Given the description of an element on the screen output the (x, y) to click on. 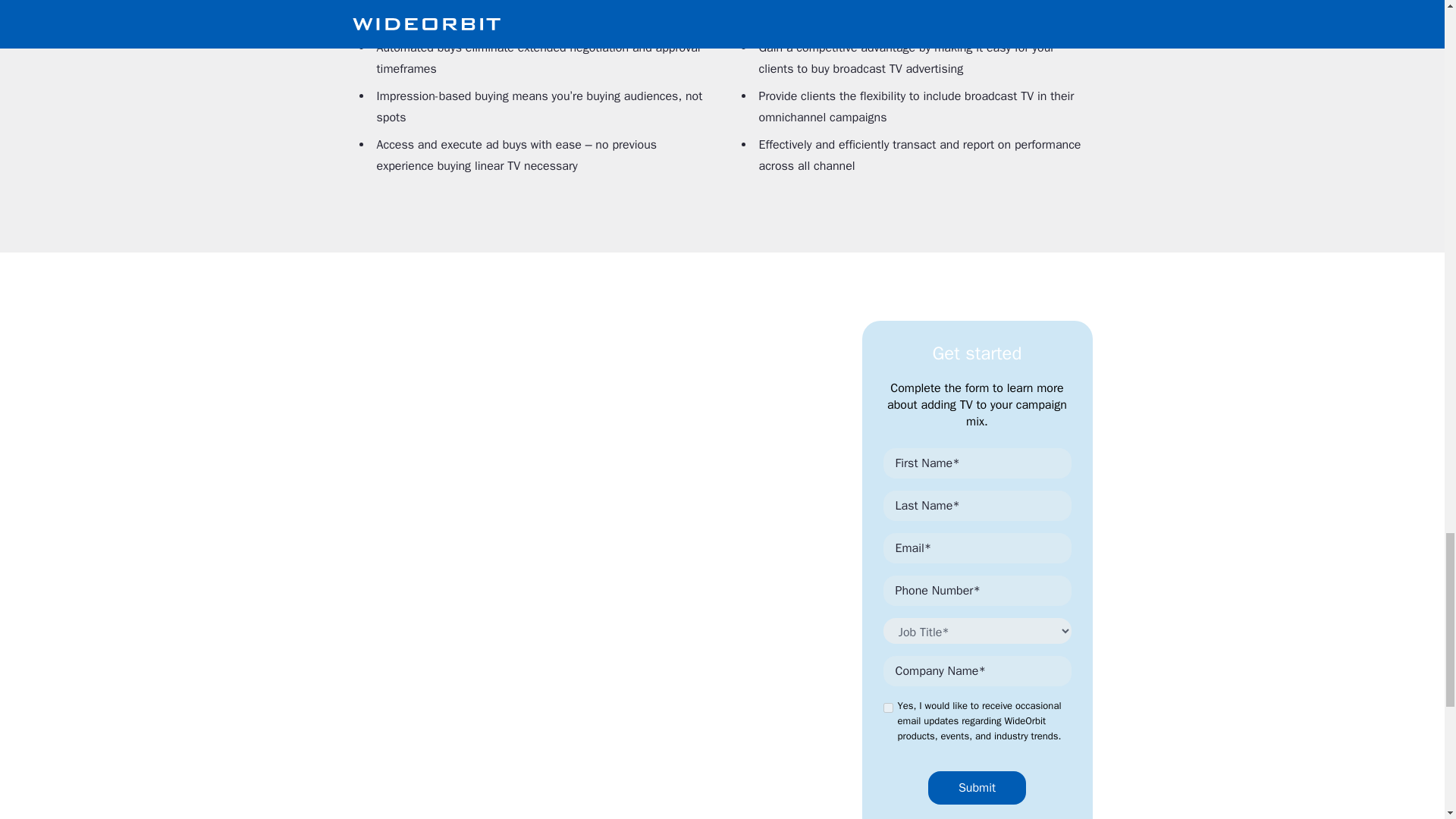
Submit (977, 787)
Submit (977, 787)
yes (887, 707)
